Given the description of an element on the screen output the (x, y) to click on. 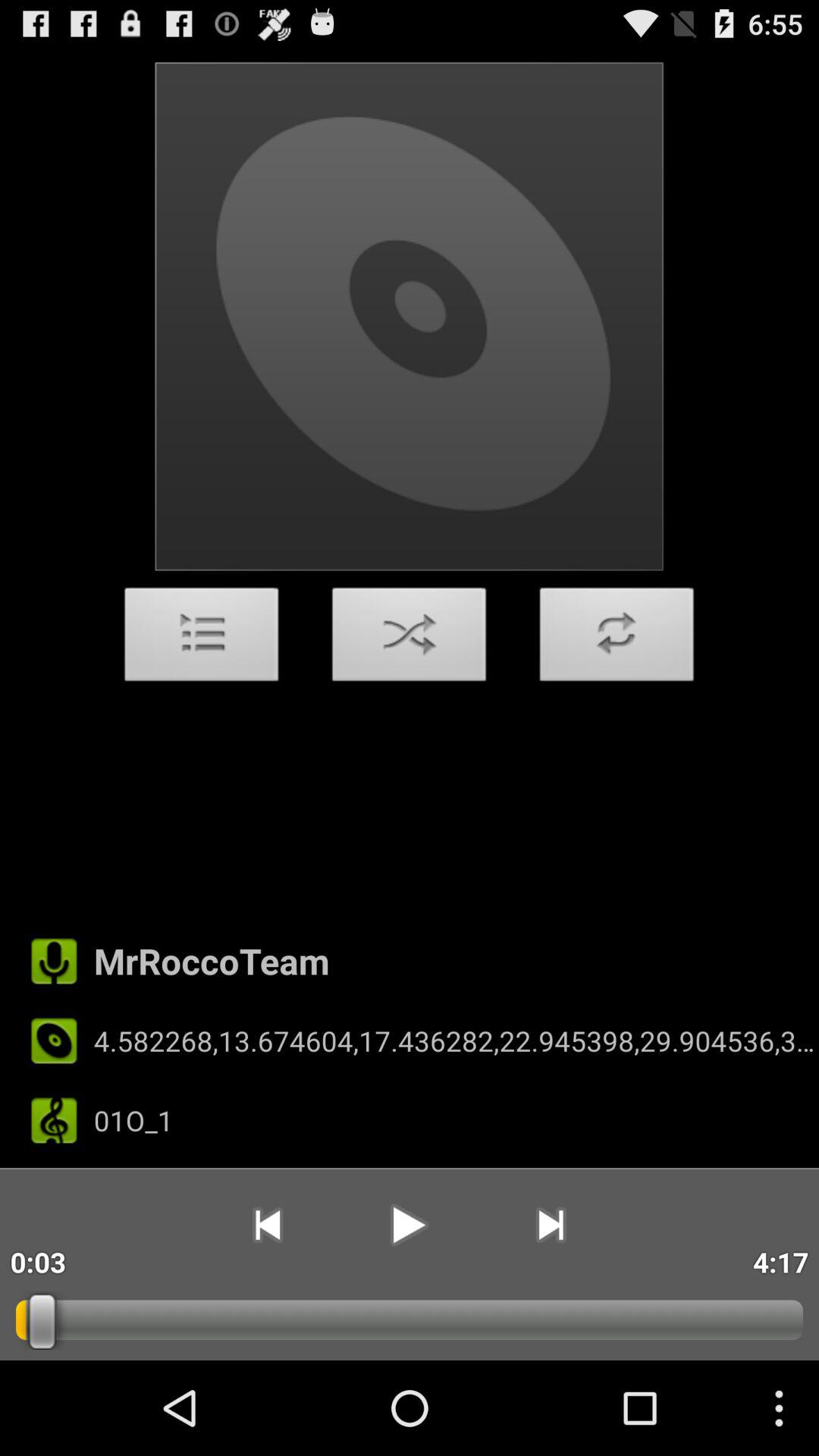
tap the item next to the 0:03 app (267, 1224)
